Given the description of an element on the screen output the (x, y) to click on. 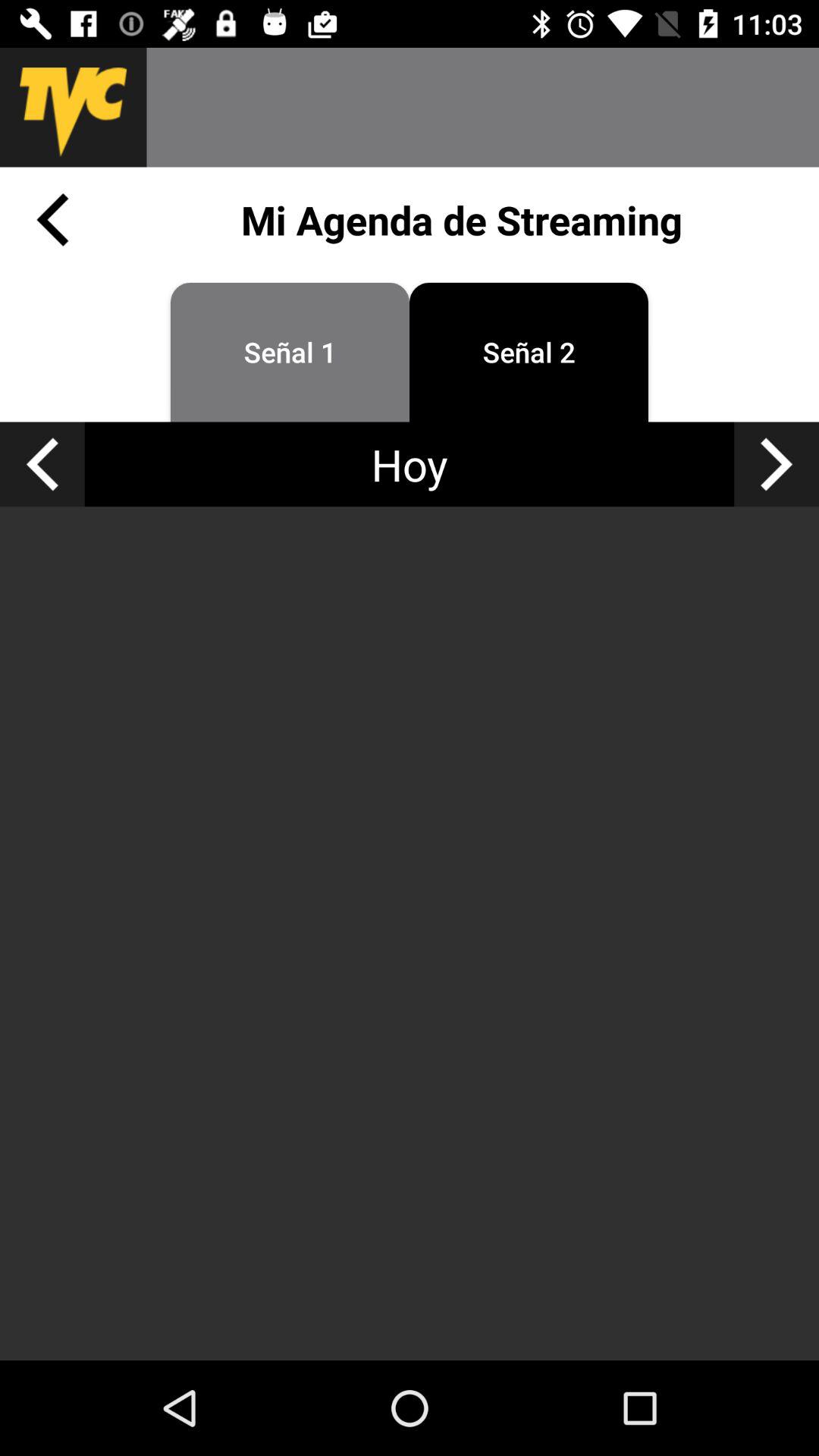
go to yesterday 's agenda (42, 464)
